Given the description of an element on the screen output the (x, y) to click on. 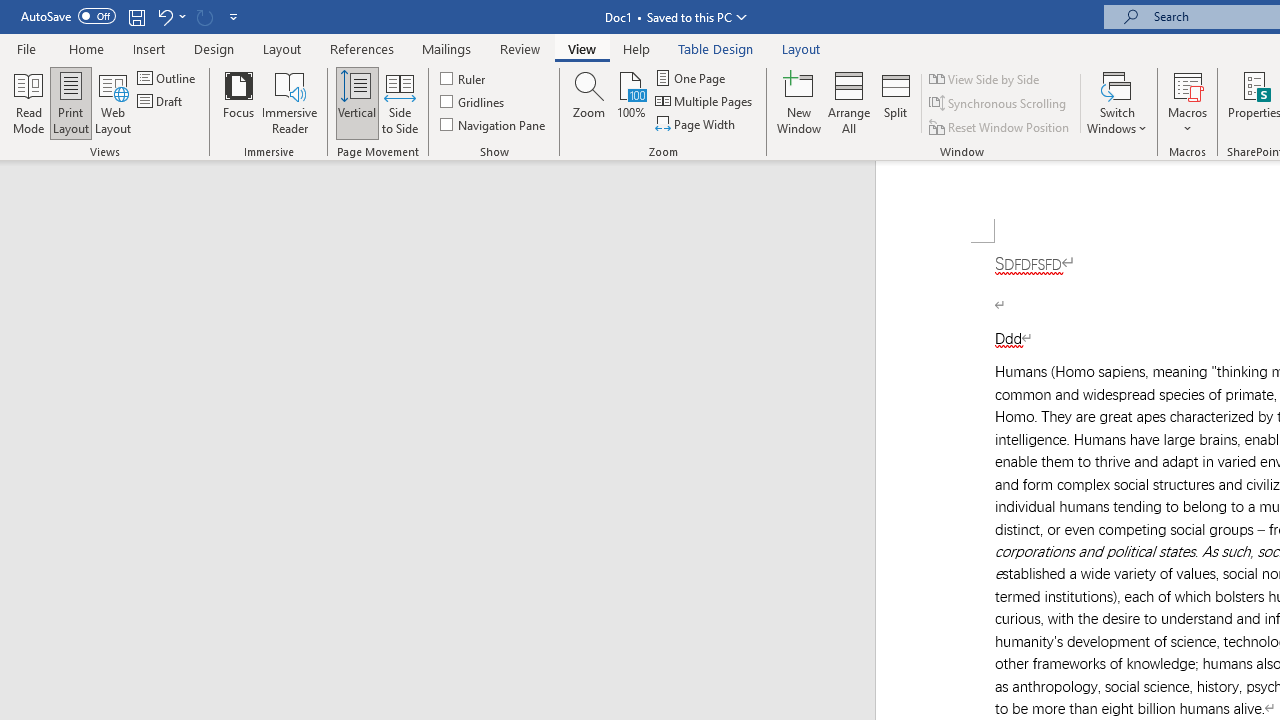
Gridlines (473, 101)
Page Width (696, 124)
